Given the description of an element on the screen output the (x, y) to click on. 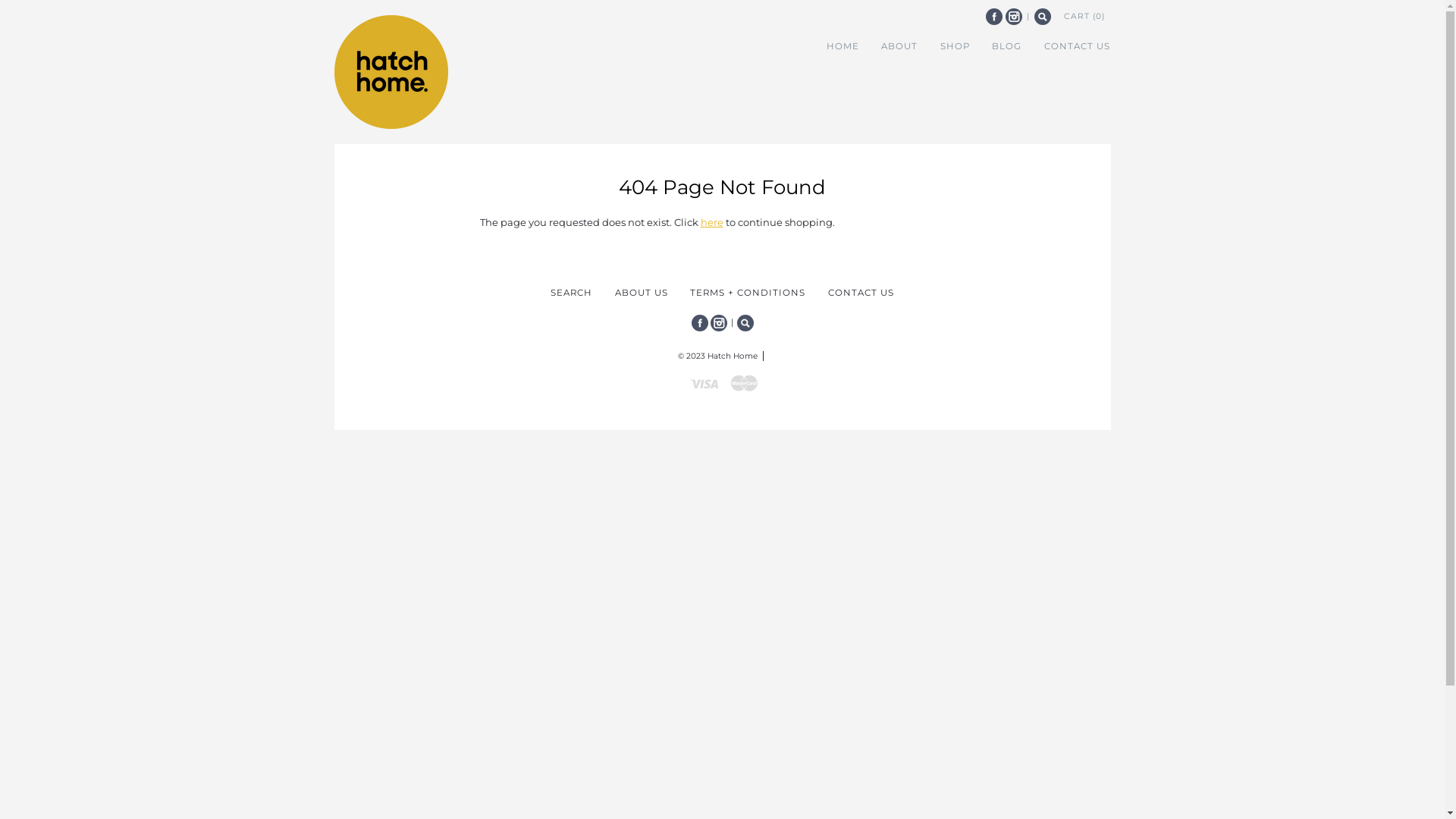
SEARCH Element type: text (745, 322)
HOME Element type: text (842, 45)
ABOUT Element type: text (899, 45)
SEARCH Element type: text (571, 292)
INSTAGRAM Element type: text (1013, 16)
FACEBOOK Element type: text (993, 16)
here Element type: text (711, 222)
INSTAGRAM Element type: text (717, 322)
CART (0) Element type: text (1084, 15)
SEARCH Element type: text (1042, 16)
BLOG Element type: text (1006, 45)
TERMS + CONDITIONS Element type: text (747, 292)
SHOP Element type: text (954, 45)
CONTACT US Element type: text (860, 292)
ABOUT US Element type: text (641, 292)
FACEBOOK Element type: text (699, 322)
CONTACT US Element type: text (1076, 45)
